Given the description of an element on the screen output the (x, y) to click on. 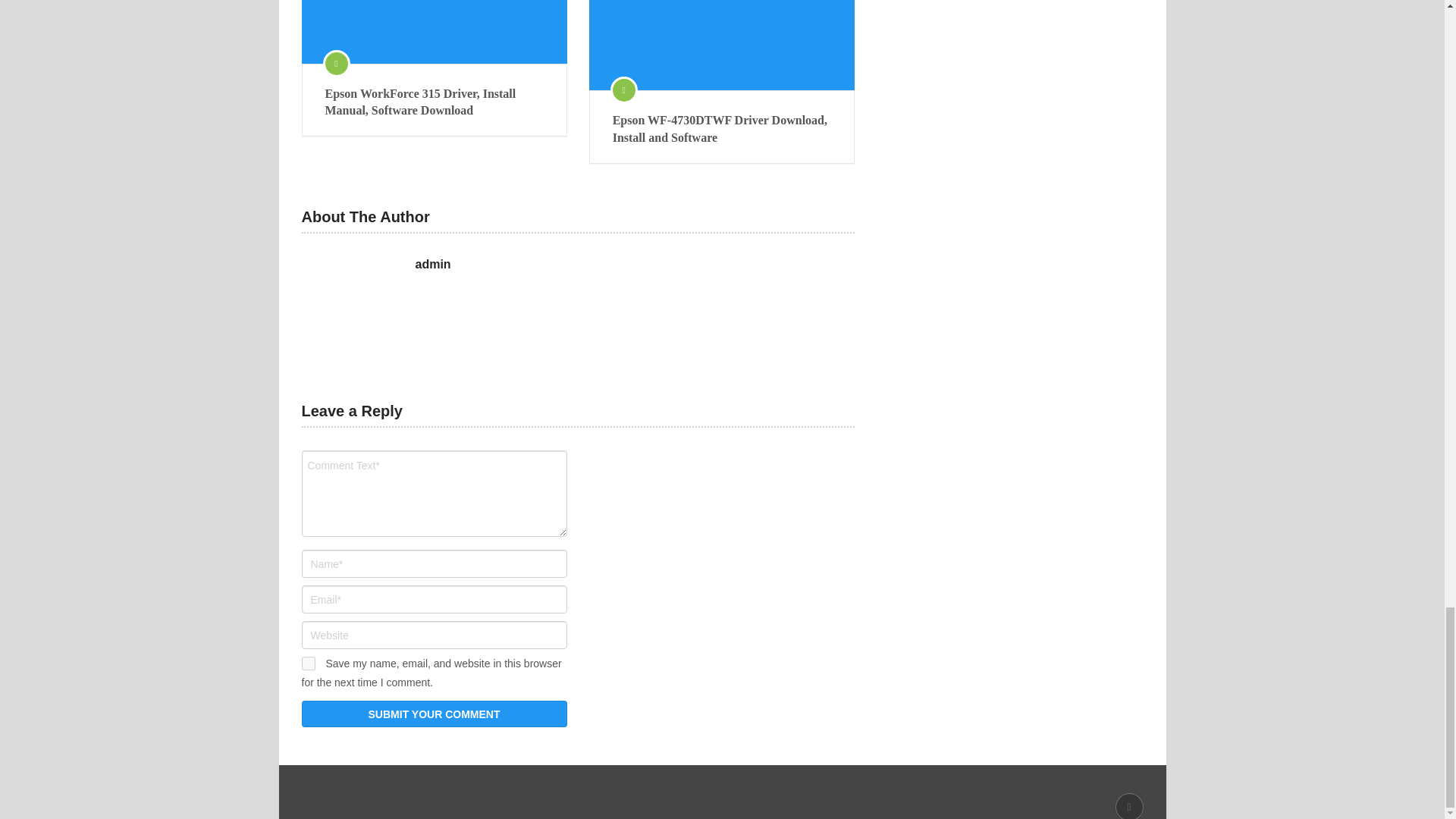
Epson WF-4730DTWF Driver Download, Install and Software (721, 129)
Epson WF-4730DTWF Driver Download, Install and Software (721, 129)
admin (432, 264)
yes (308, 663)
Submit Your Comment (434, 714)
 3D-Drivers Printers and Software Download (410, 792)
Epson WF-4730DTWF Driver Download, Install and Software (721, 45)
